Given the description of an element on the screen output the (x, y) to click on. 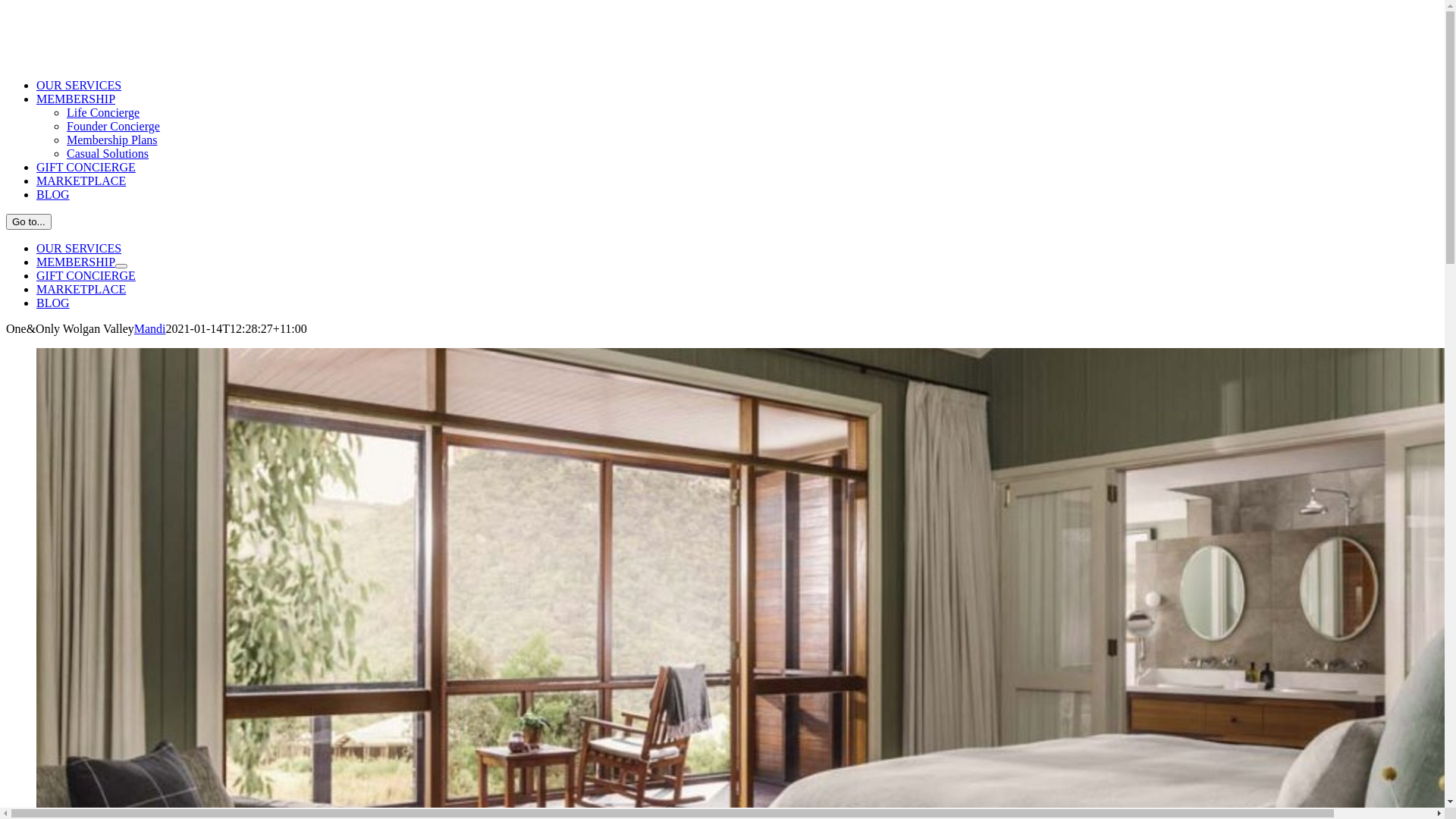
Membership Plans Element type: text (111, 139)
MEMBERSHIP Element type: text (75, 98)
GIFT CONCIERGE Element type: text (85, 275)
MARKETPLACE Element type: text (80, 180)
MEMBERSHIP Element type: text (75, 261)
Mandi Element type: text (150, 328)
GIFT CONCIERGE Element type: text (85, 166)
Founder Concierge Element type: text (113, 125)
OUR SERVICES Element type: text (78, 247)
Go to... Element type: text (28, 221)
OUR SERVICES Element type: text (78, 84)
MARKETPLACE Element type: text (80, 288)
Skip to content Element type: text (5, 5)
BLOG Element type: text (52, 302)
Life Concierge Element type: text (102, 112)
BLOG Element type: text (52, 194)
Casual Solutions Element type: text (107, 153)
